Given the description of an element on the screen output the (x, y) to click on. 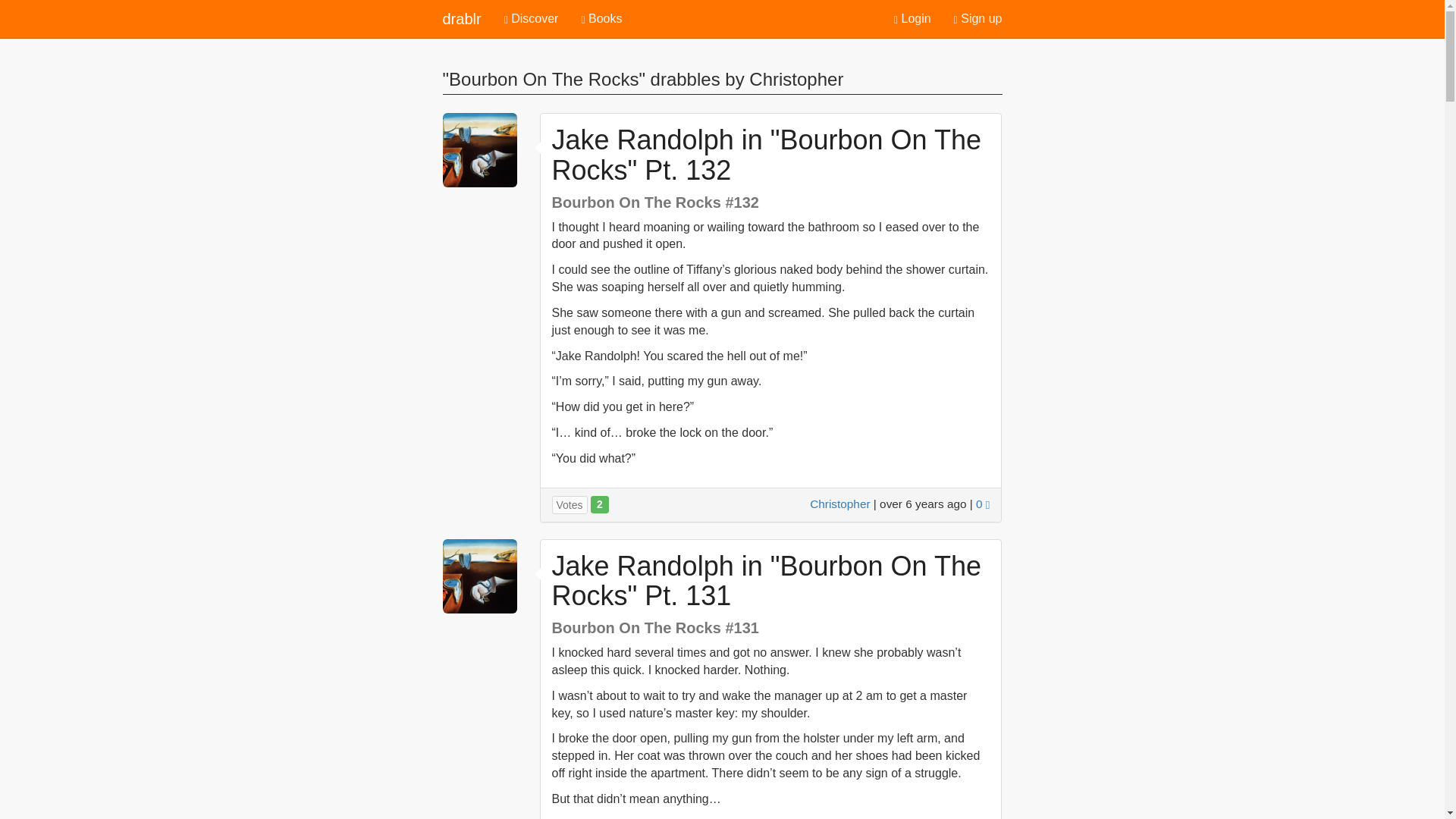
Comments (982, 503)
Jake Randolph in "Bourbon On The Rocks" Pt. 131 (766, 580)
Discover (531, 18)
Login (912, 18)
Christopher (839, 503)
Votes (569, 505)
Books (601, 18)
Sign up (977, 18)
0 (982, 503)
Jake Randolph in "Bourbon On The Rocks" Pt. 132 (766, 154)
drablr (461, 18)
